Given the description of an element on the screen output the (x, y) to click on. 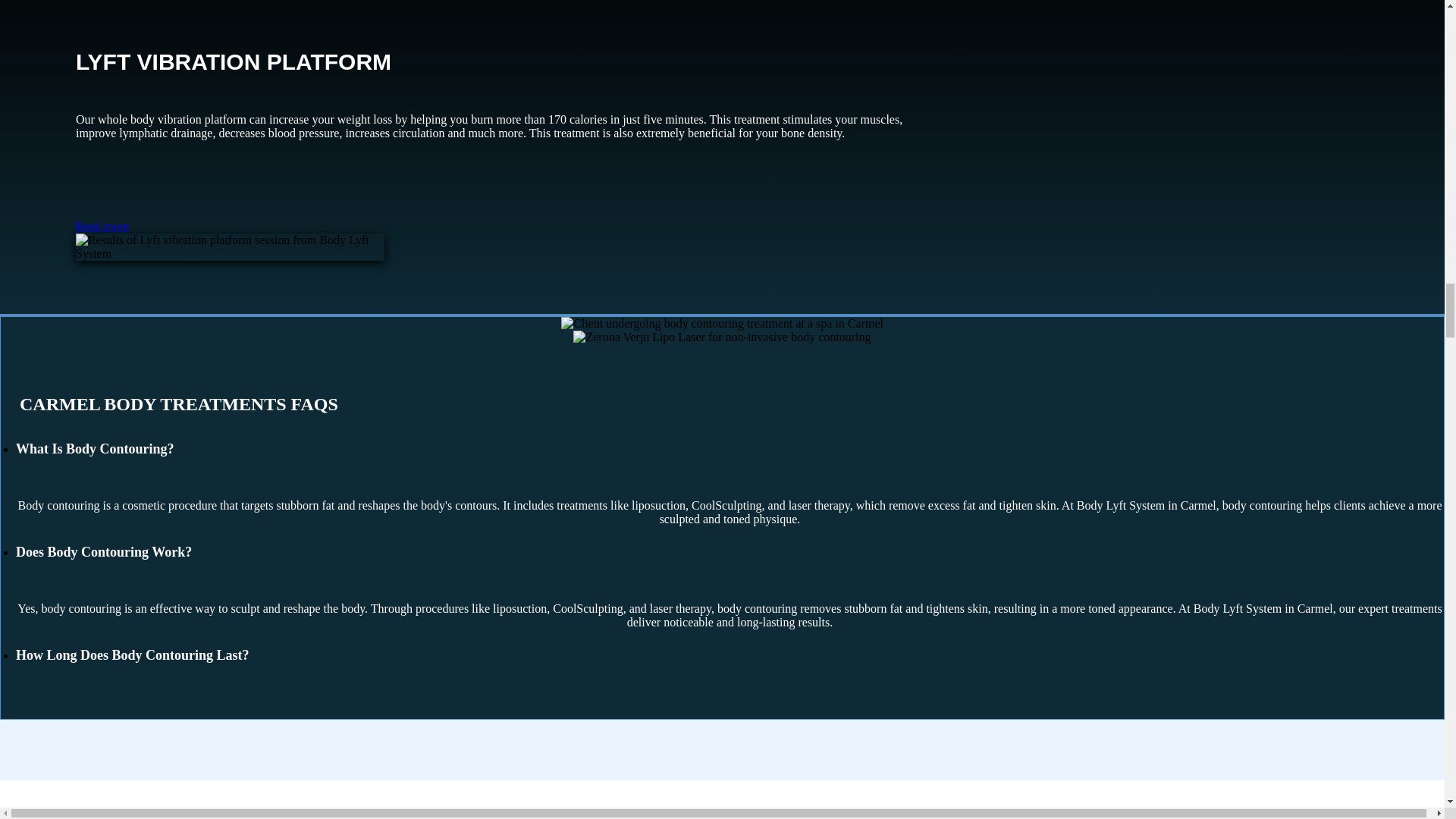
Read more (102, 226)
